Given the description of an element on the screen output the (x, y) to click on. 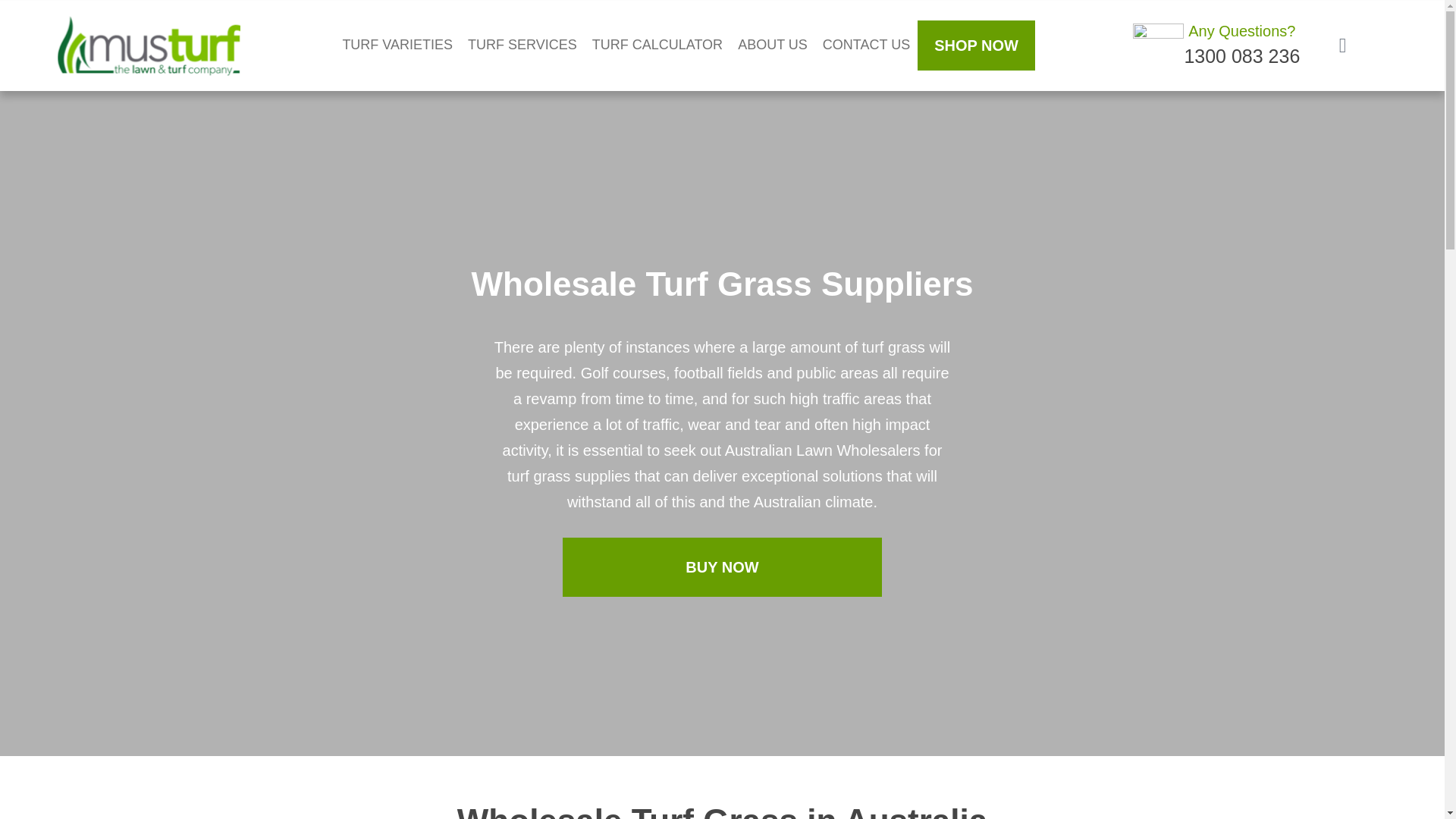
ABOUT US (773, 45)
TURF VARIETIES (397, 45)
SHOP NOW (976, 45)
CONTACT US (866, 45)
TURF SERVICES (521, 45)
Any Questions? (1241, 30)
TURF CALCULATOR (657, 45)
